Given the description of an element on the screen output the (x, y) to click on. 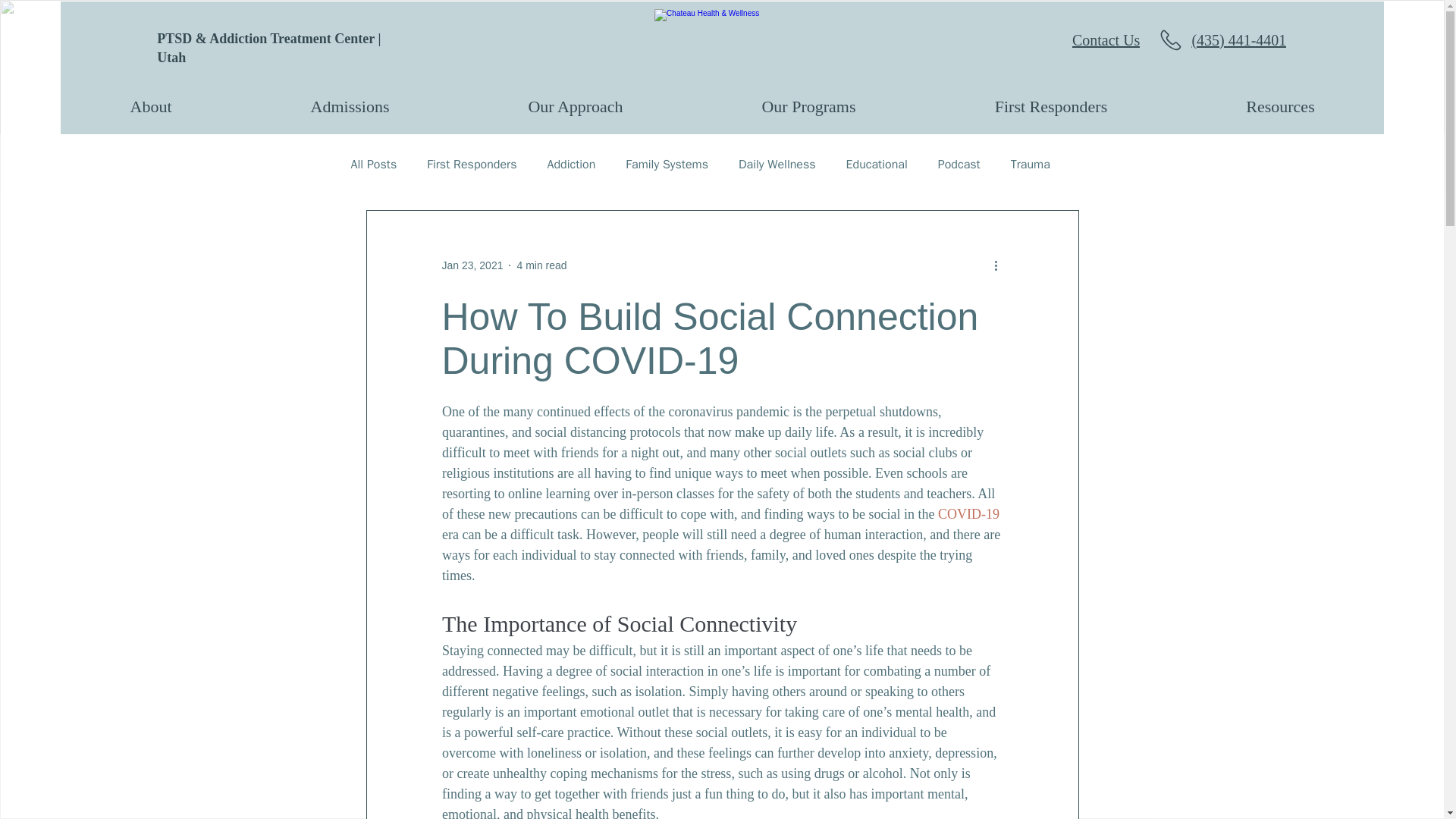
Contact Us (1089, 40)
4 min read (541, 265)
Jan 23, 2021 (471, 265)
